Given the description of an element on the screen output the (x, y) to click on. 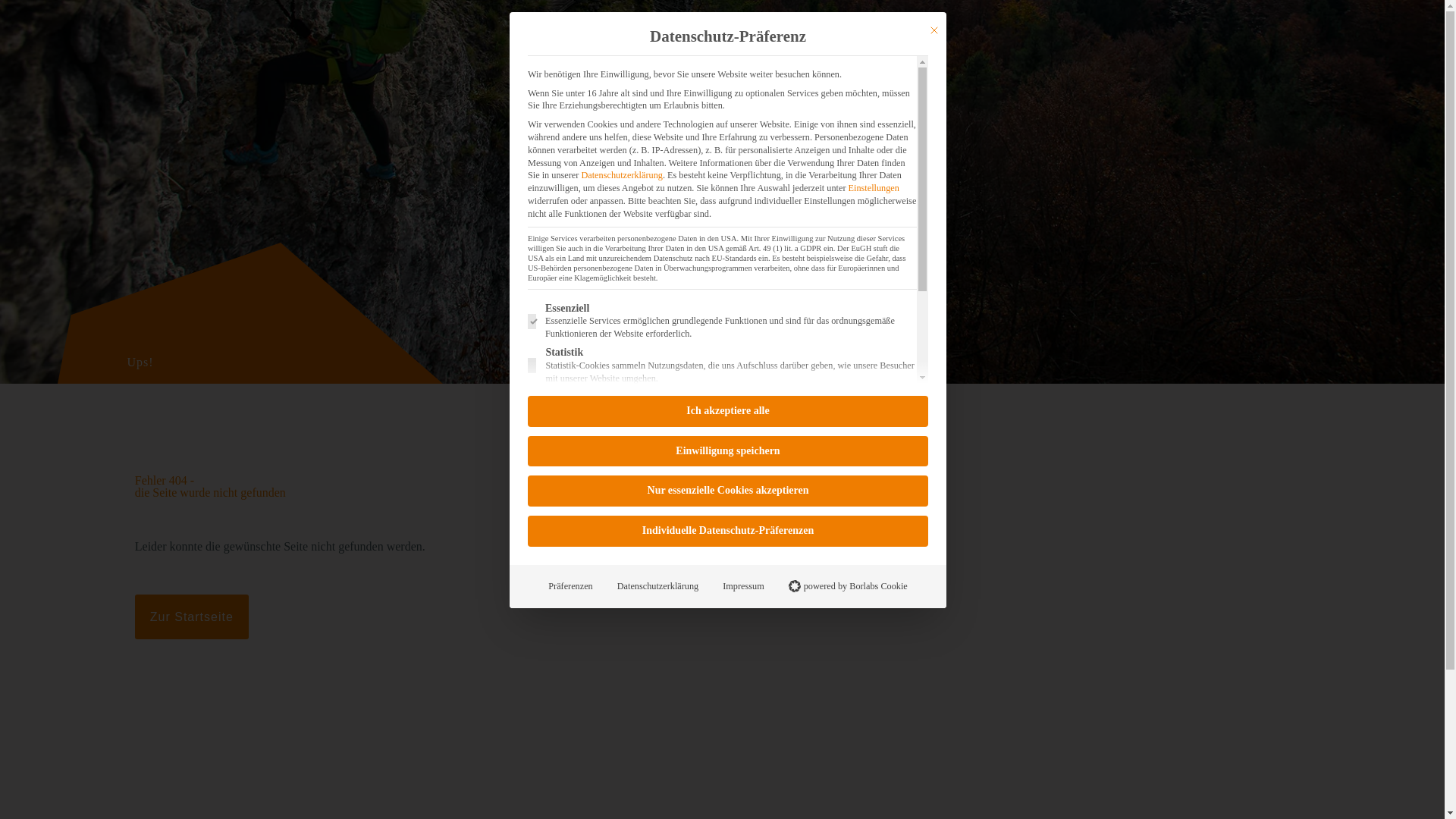
powered by Borlabs Cookie (848, 586)
Ich akzeptiere alle (727, 410)
Einstellungen (873, 187)
Zur Startseite (191, 616)
Einwilligung speichern (727, 450)
Nur essenzielle Cookies akzeptieren (727, 490)
Impressum (743, 586)
